Given the description of an element on the screen output the (x, y) to click on. 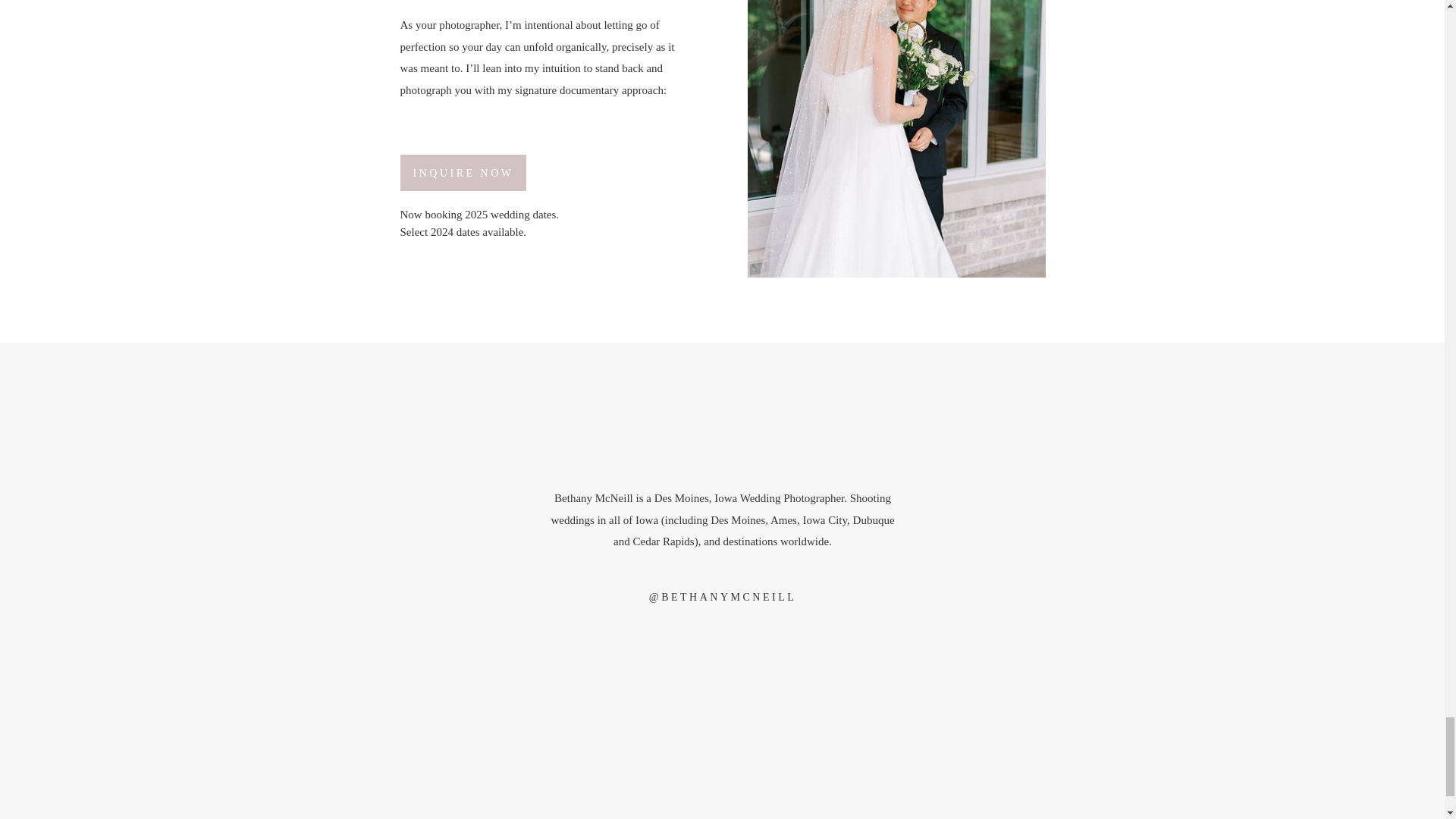
INQUIRE NOW (463, 173)
